Given the description of an element on the screen output the (x, y) to click on. 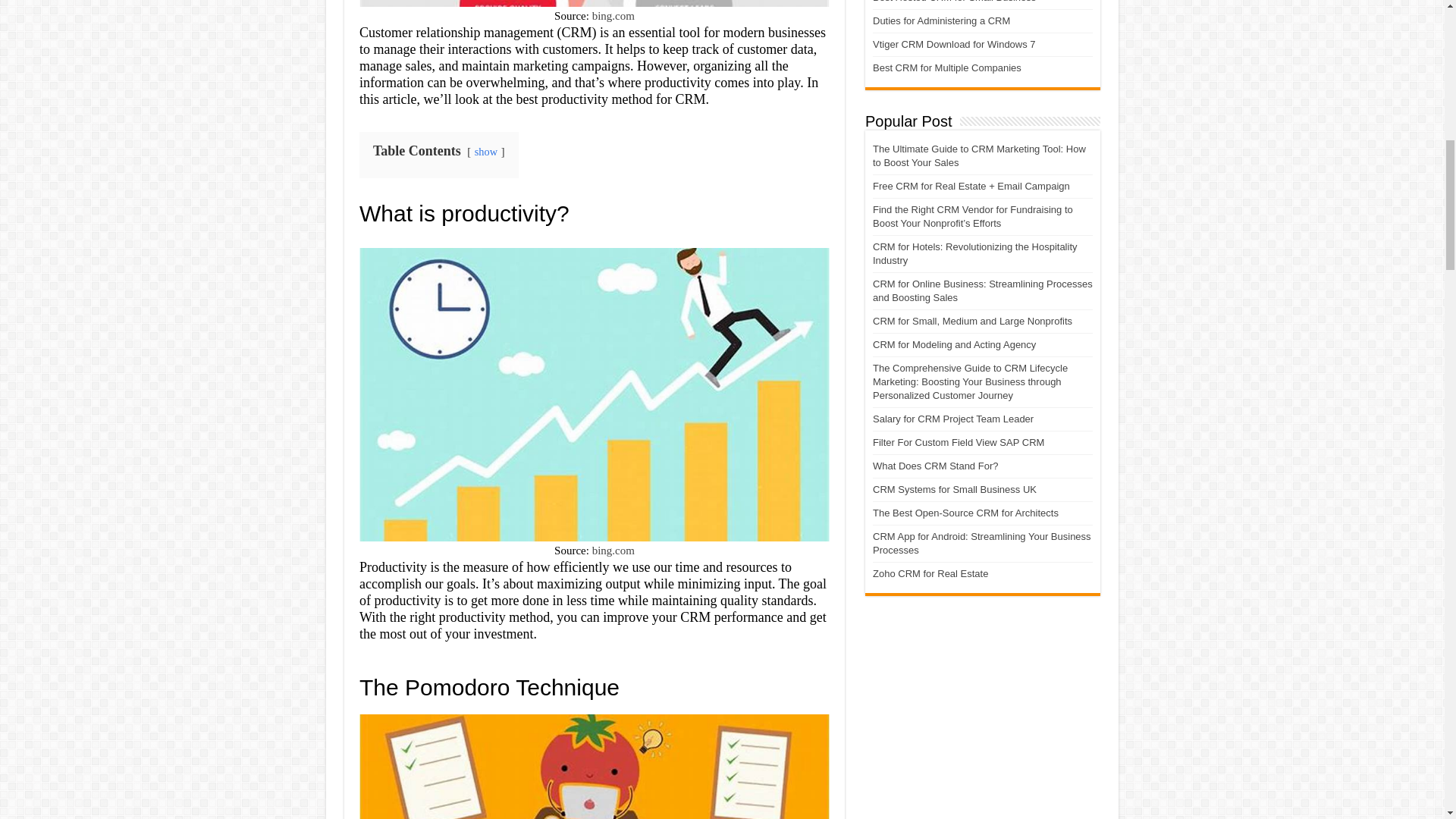
bing.com (613, 15)
show (485, 151)
bing.com (613, 550)
